Given the description of an element on the screen output the (x, y) to click on. 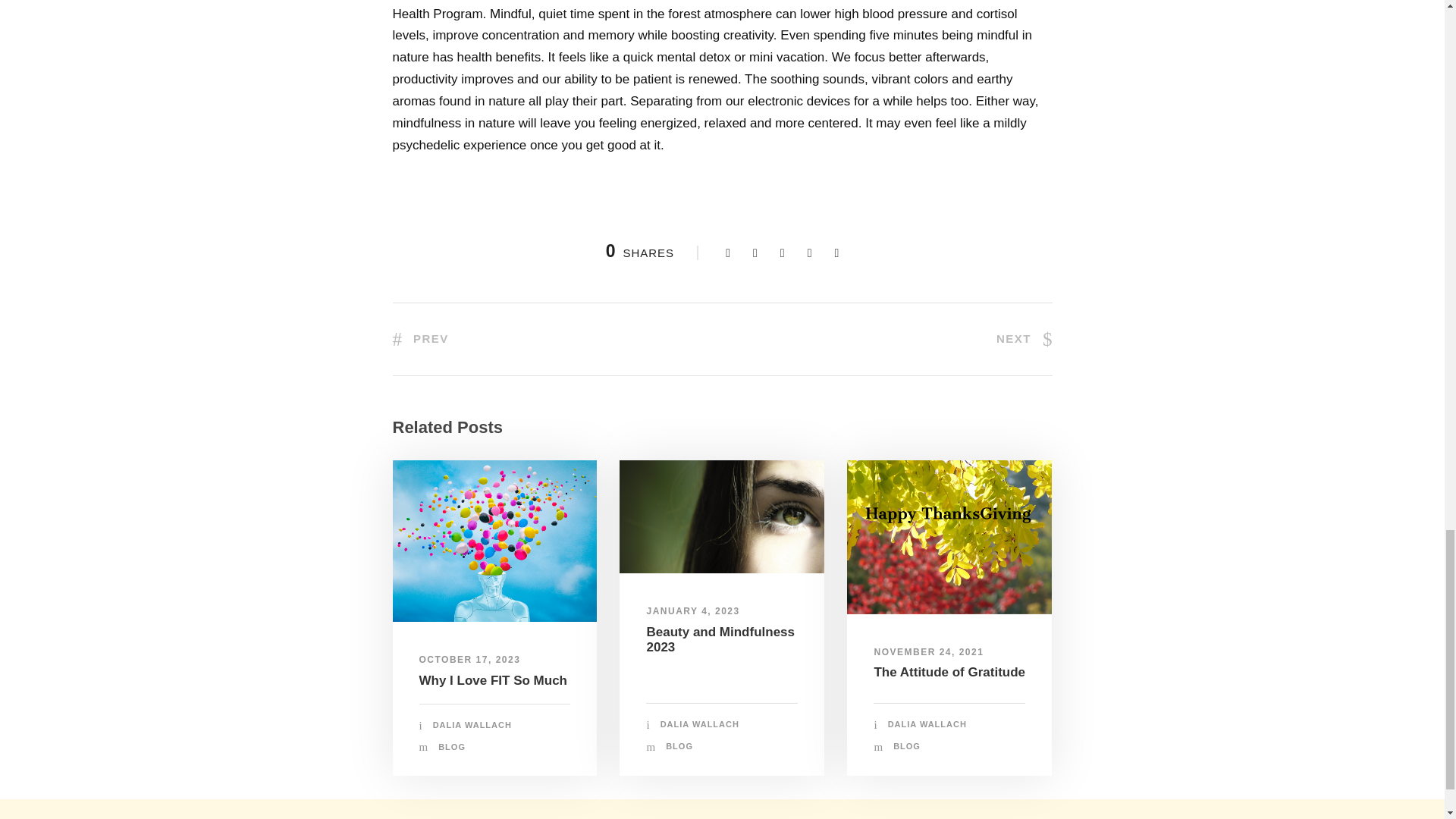
Why I Love FIT So Much (493, 680)
BLOG (679, 746)
PREV (420, 338)
OCTOBER 17, 2023 (469, 659)
Posts by Dalia Wallach (927, 723)
Beauty and Mindfulness 2023 (720, 639)
JANUARY 4, 2023 (692, 611)
DALIA WALLACH (472, 724)
DALIA WALLACH (700, 723)
DALIA WALLACH (927, 723)
Posts by Dalia Wallach (700, 723)
Posts by Dalia Wallach (472, 724)
NOVEMBER 24, 2021 (928, 652)
NEXT (1023, 338)
BLOG (451, 746)
